Given the description of an element on the screen output the (x, y) to click on. 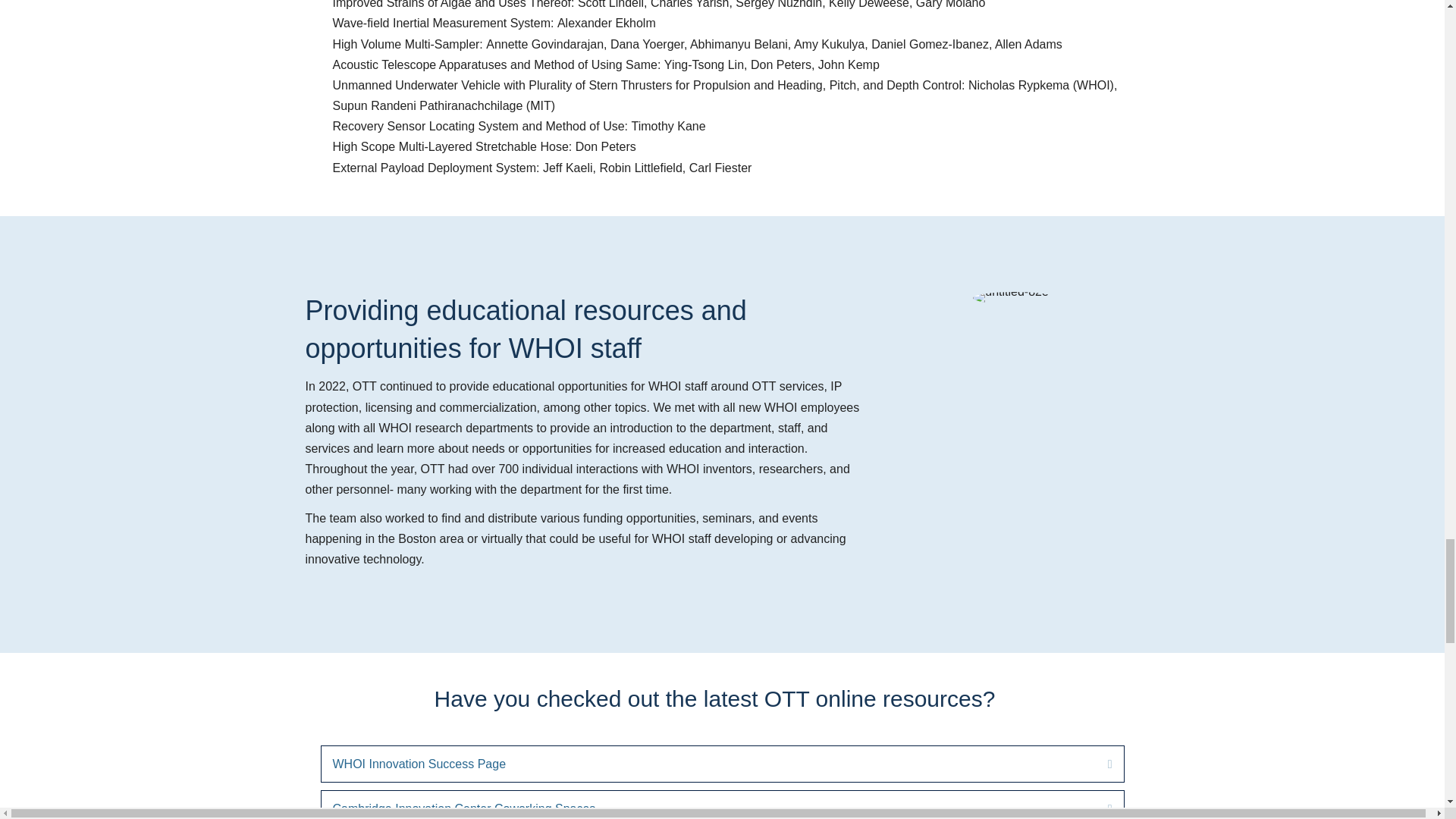
untitled-8284 (1013, 297)
